Given the description of an element on the screen output the (x, y) to click on. 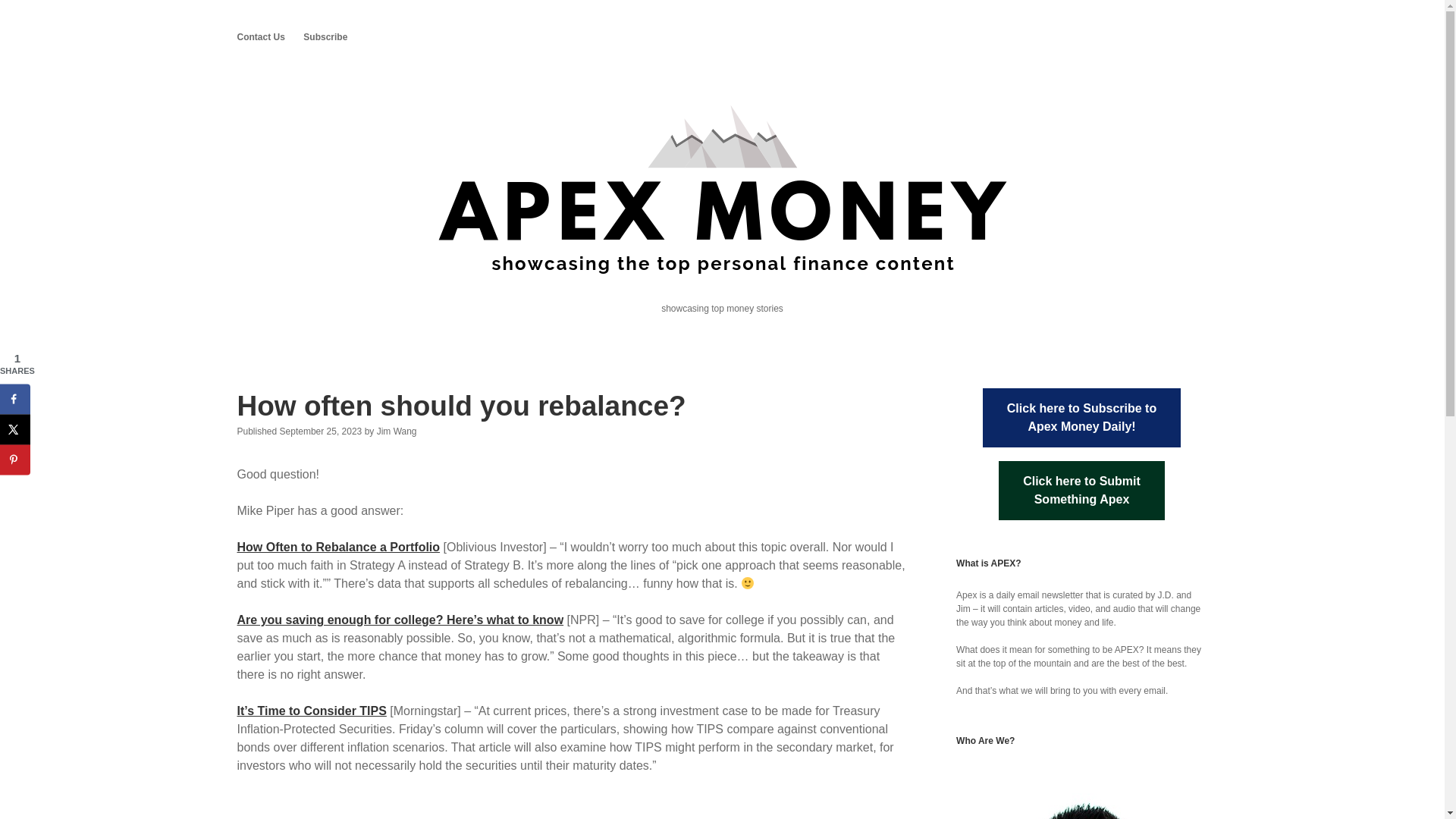
Subscribe (1081, 417)
Save to Pinterest (324, 37)
Share on X (15, 459)
Contact Us (15, 429)
Share on Facebook (259, 37)
How Often to Rebalance a Portfolio (1081, 490)
Apex Money (15, 399)
